Given the description of an element on the screen output the (x, y) to click on. 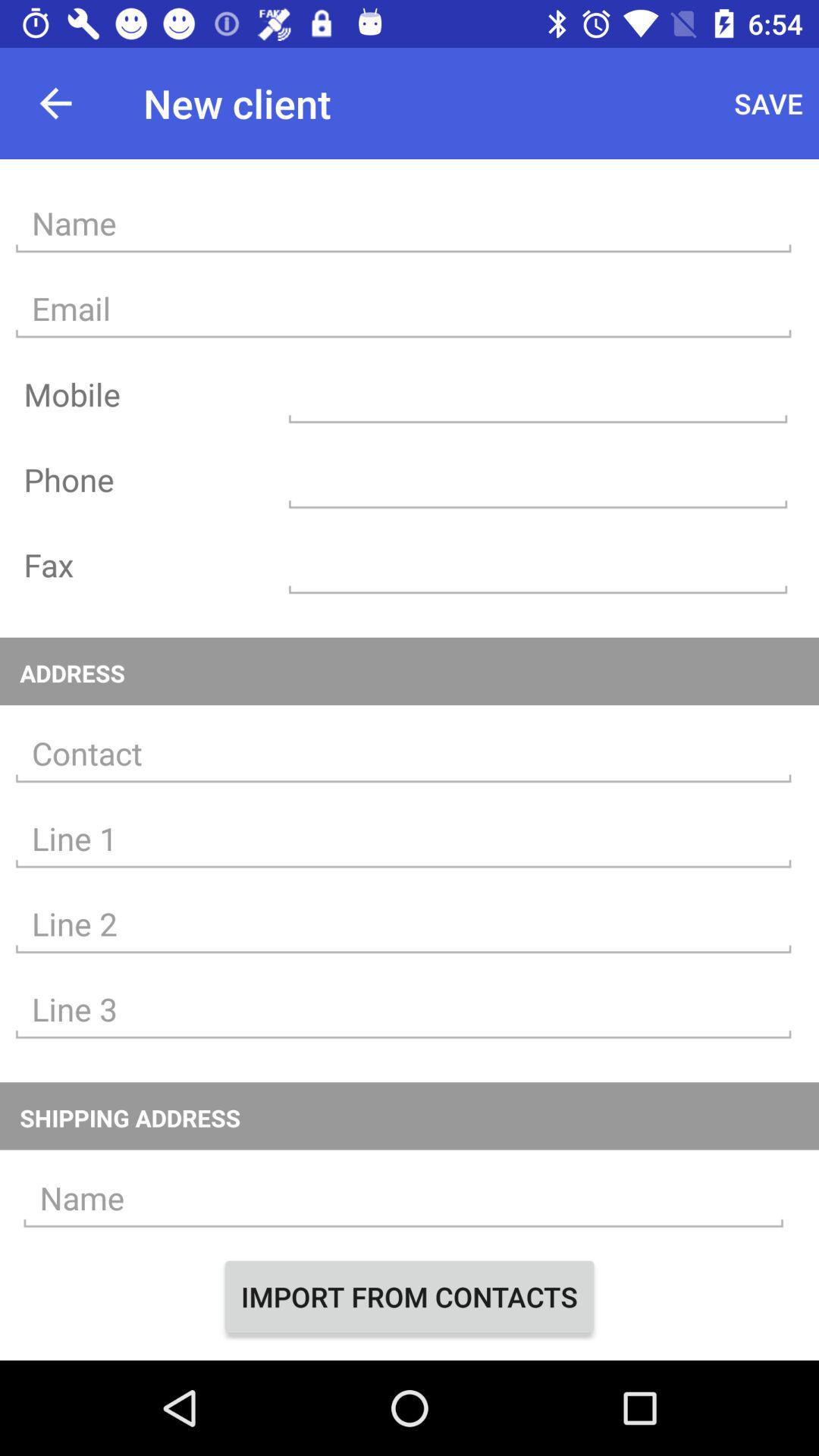
tap the import from contacts icon (409, 1296)
